Given the description of an element on the screen output the (x, y) to click on. 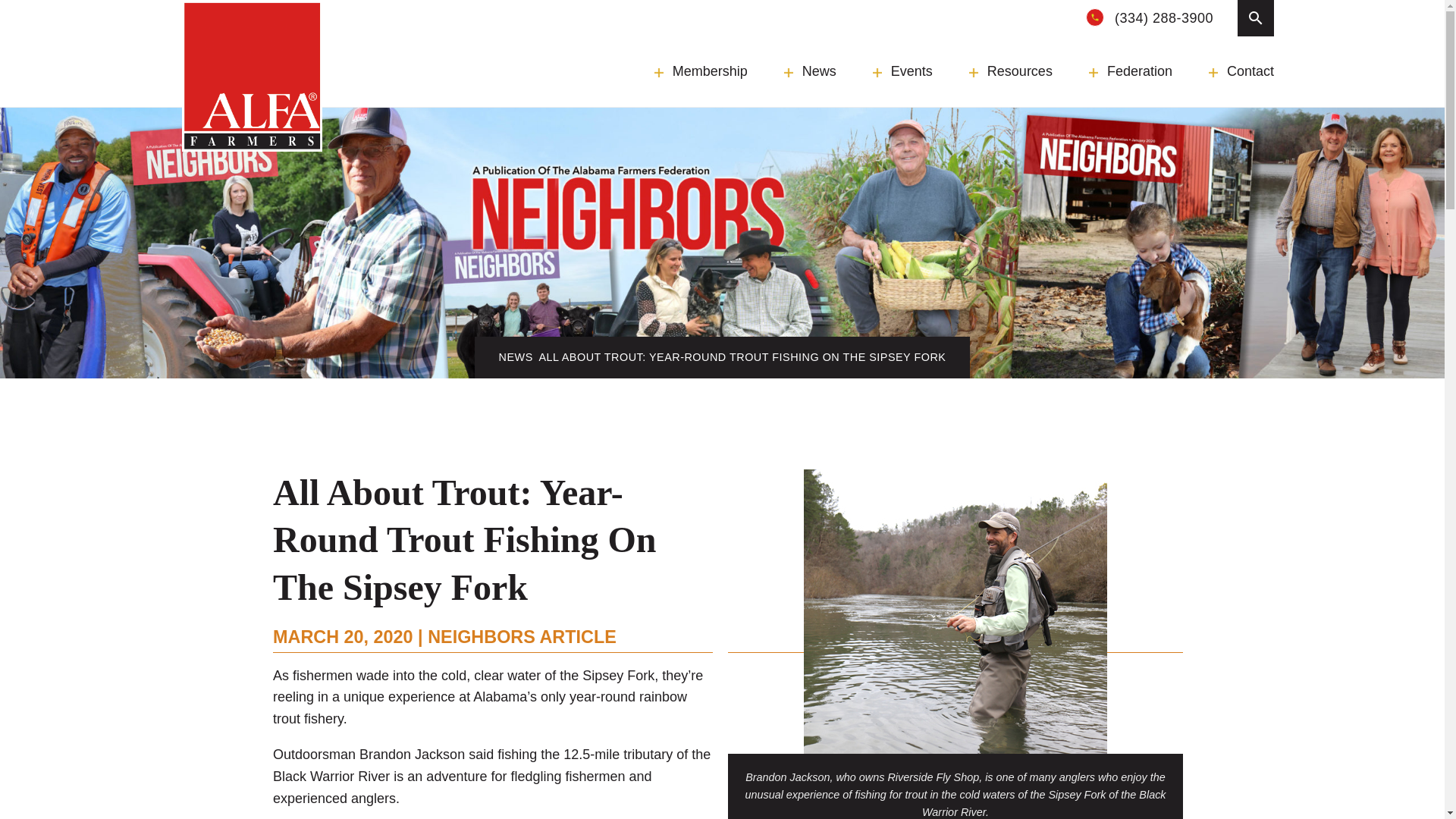
Search (416, 12)
Events (902, 71)
News (809, 71)
Membership (700, 71)
Contact (1241, 71)
Alabama Farmers Federation (251, 75)
Alabama Farmers Federation (251, 75)
Search (1255, 18)
Resources (1010, 71)
Federation (1130, 71)
